Given the description of an element on the screen output the (x, y) to click on. 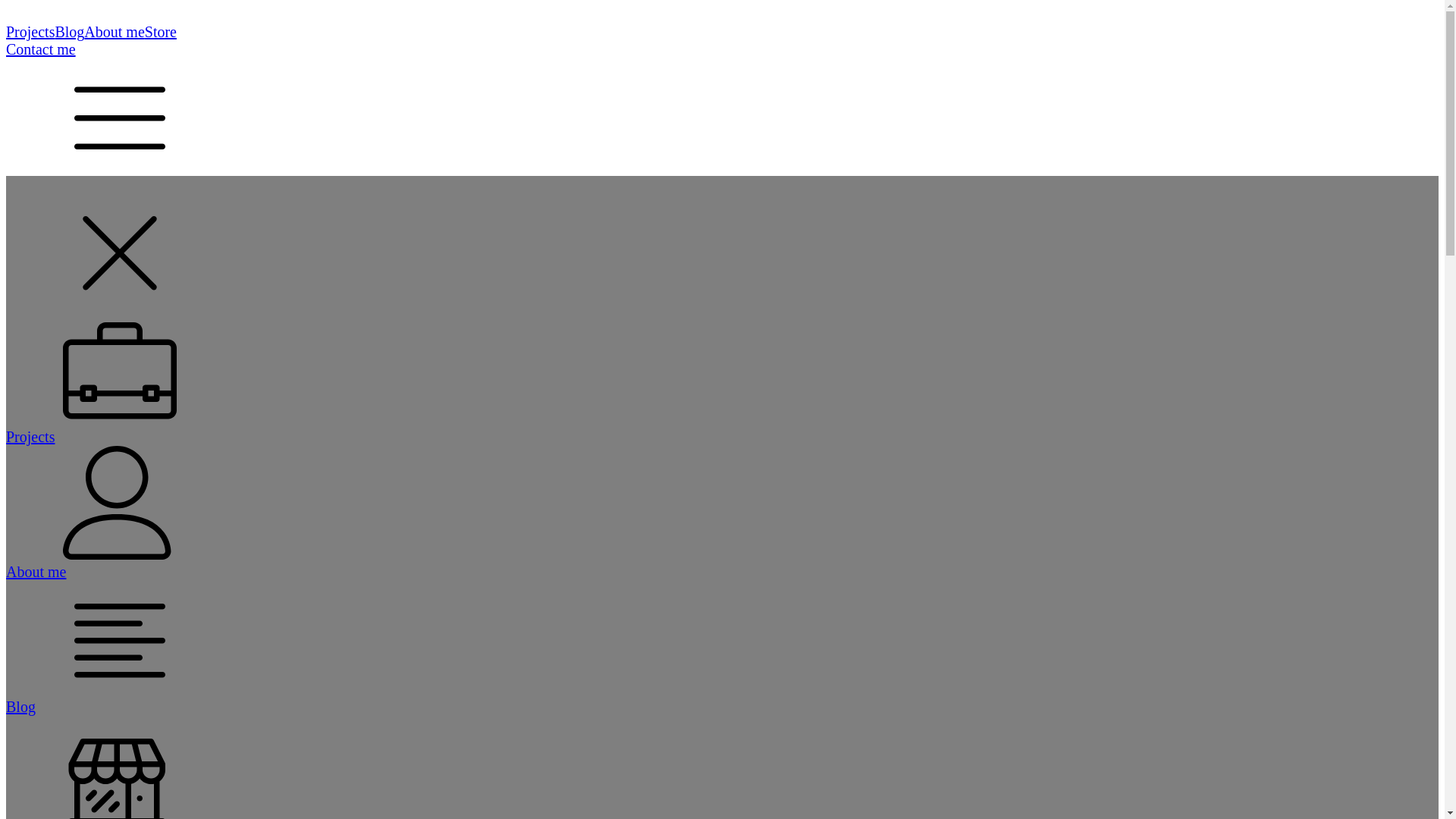
Blog (69, 31)
About me (114, 31)
Store (160, 31)
Contact me (40, 48)
Projects (30, 31)
